Given the description of an element on the screen output the (x, y) to click on. 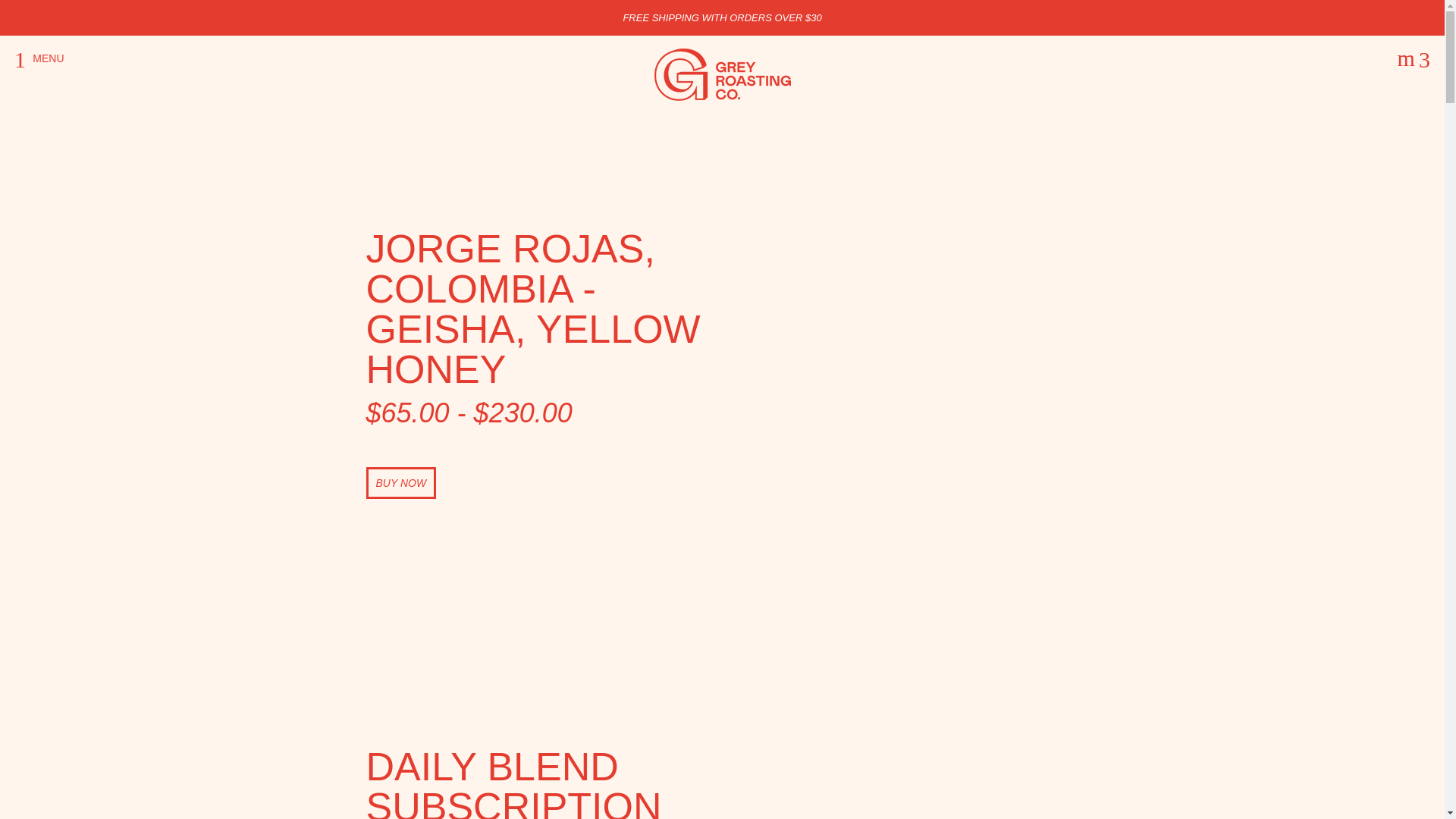
MENU (39, 58)
